Given the description of an element on the screen output the (x, y) to click on. 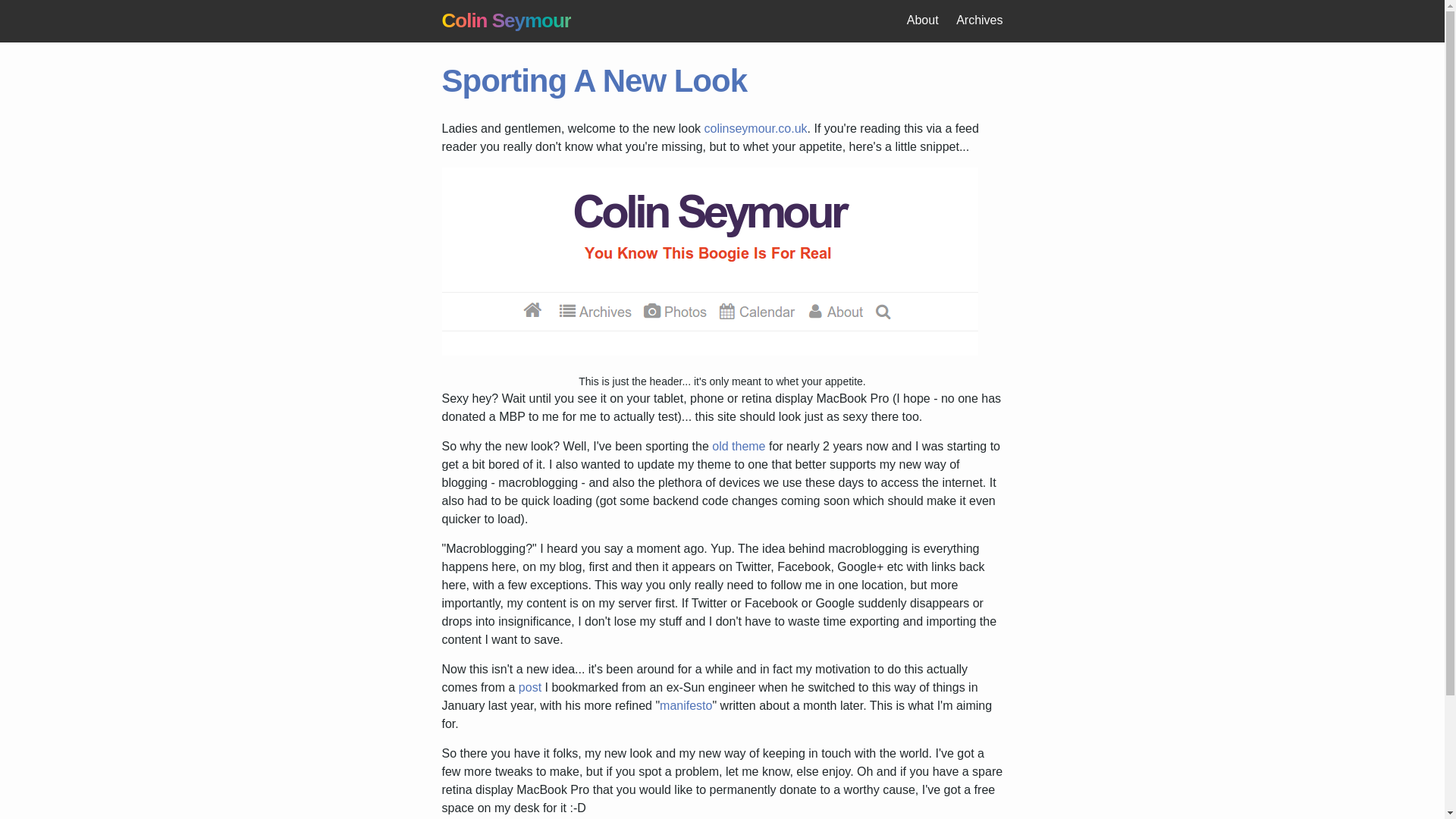
Colin Seymour (505, 20)
old theme (738, 445)
colinseymour.co.uk (754, 128)
About (923, 19)
Archives (979, 19)
manifesto (685, 705)
post (529, 686)
